Given the description of an element on the screen output the (x, y) to click on. 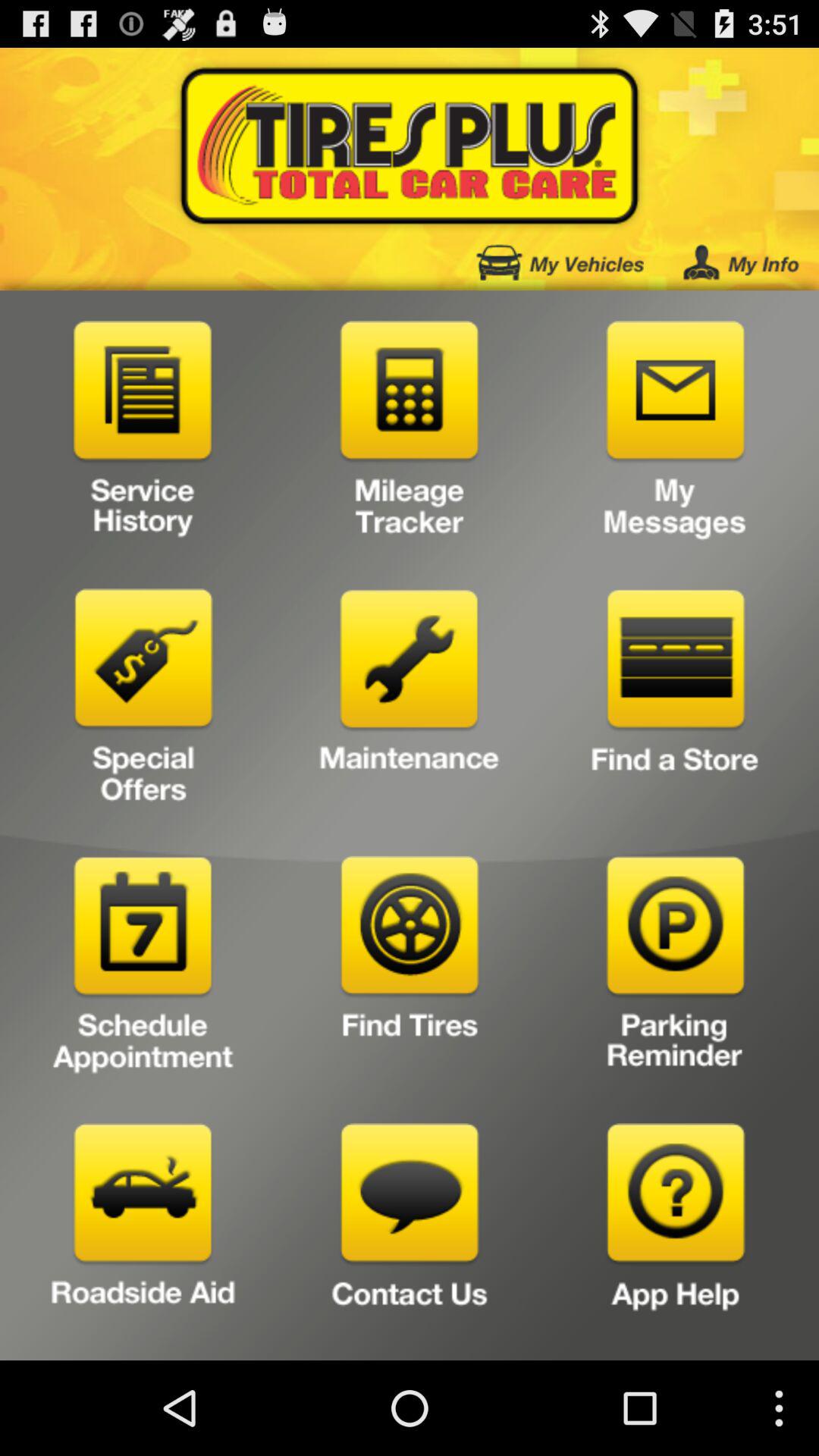
select special offers (142, 701)
